Given the description of an element on the screen output the (x, y) to click on. 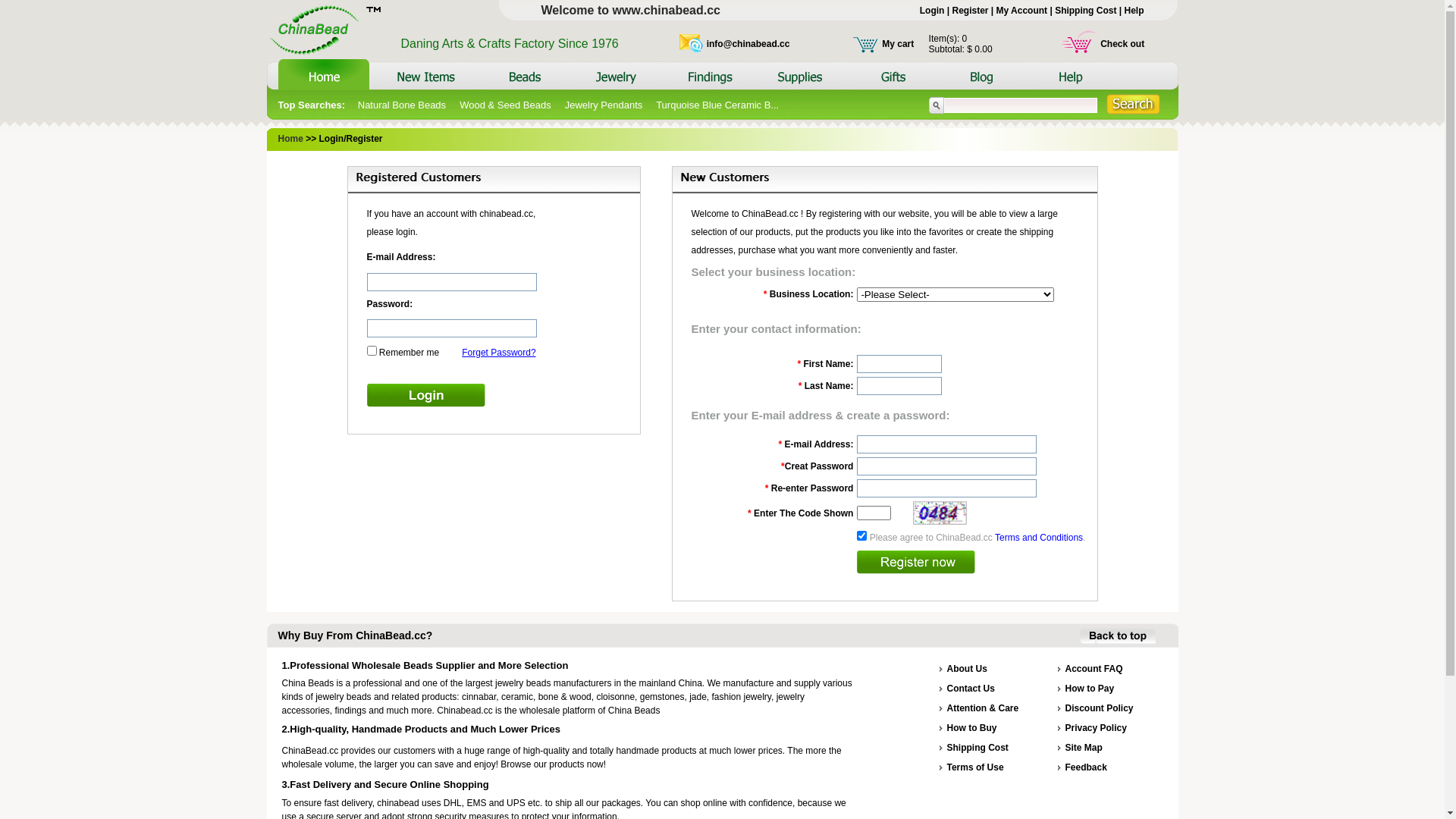
About Us Element type: text (966, 668)
Wood & Seed Beads Element type: text (504, 104)
Shipping Cost Element type: text (1085, 10)
Turquoise Blue Ceramic B... Element type: text (716, 104)
Home Element type: text (289, 138)
Natural Bone Beads Element type: text (401, 104)
My Account Element type: text (1022, 10)
Jewelry Pendants Element type: text (603, 104)
Login Element type: text (931, 10)
How to Buy Element type: text (971, 727)
How to Pay Element type: text (1088, 688)
My cart Element type: text (897, 42)
Shipping Cost Element type: text (976, 747)
Feedback Element type: text (1085, 767)
Register Element type: text (969, 10)
info@chinabead.cc Element type: text (748, 42)
Site Map Element type: text (1082, 747)
Terms and Conditions Element type: text (1038, 537)
Check out Element type: text (1122, 42)
Forget Password? Element type: text (498, 352)
Privacy Policy Element type: text (1095, 727)
Terms of Use Element type: text (974, 767)
Contact Us Element type: text (970, 688)
Attention & Care Element type: text (982, 707)
Account FAQ Element type: text (1093, 668)
Discount Policy Element type: text (1098, 707)
Help Element type: text (1133, 10)
